Given the description of an element on the screen output the (x, y) to click on. 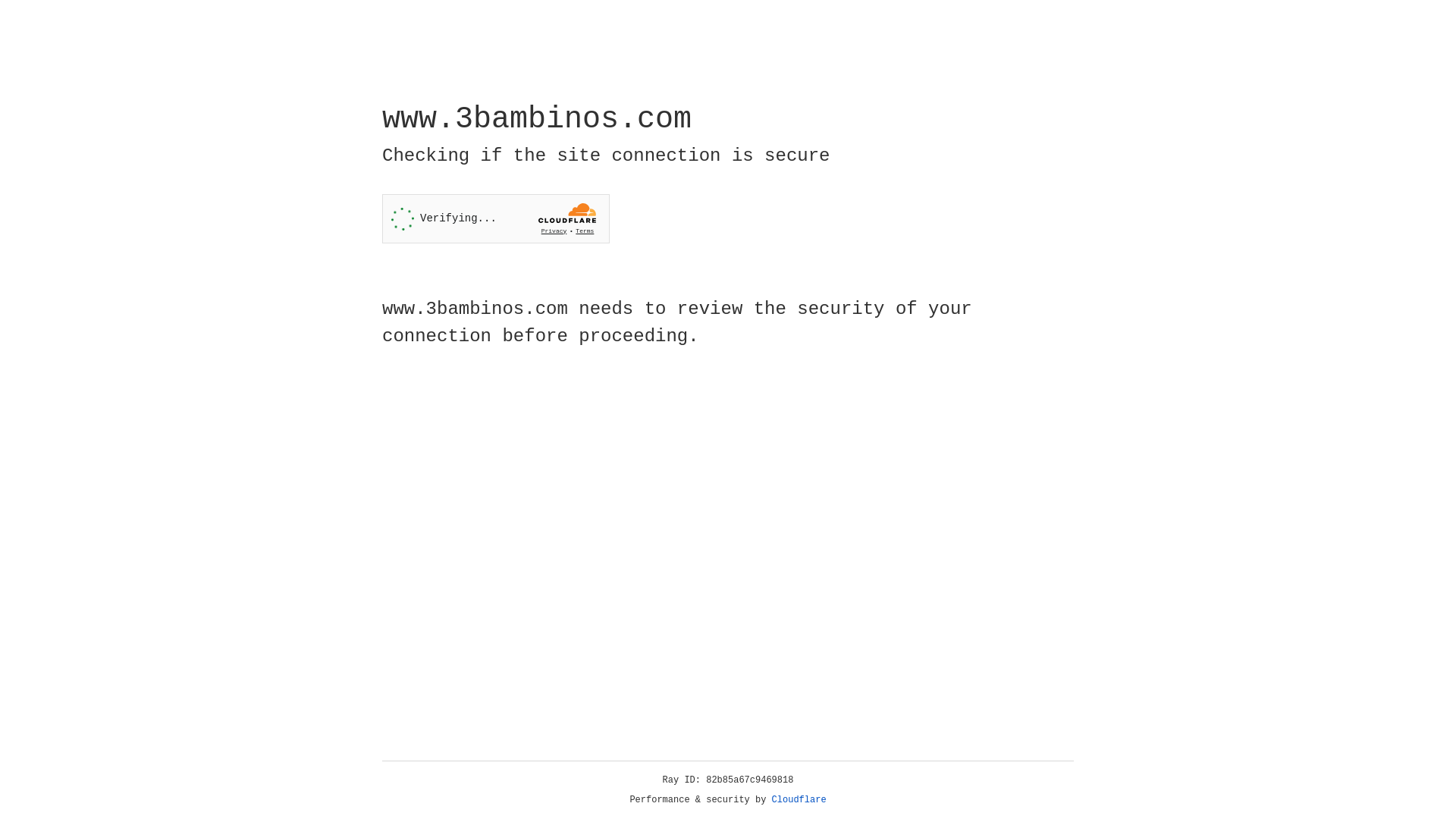
Cloudflare Element type: text (798, 799)
Widget containing a Cloudflare security challenge Element type: hover (495, 218)
